Given the description of an element on the screen output the (x, y) to click on. 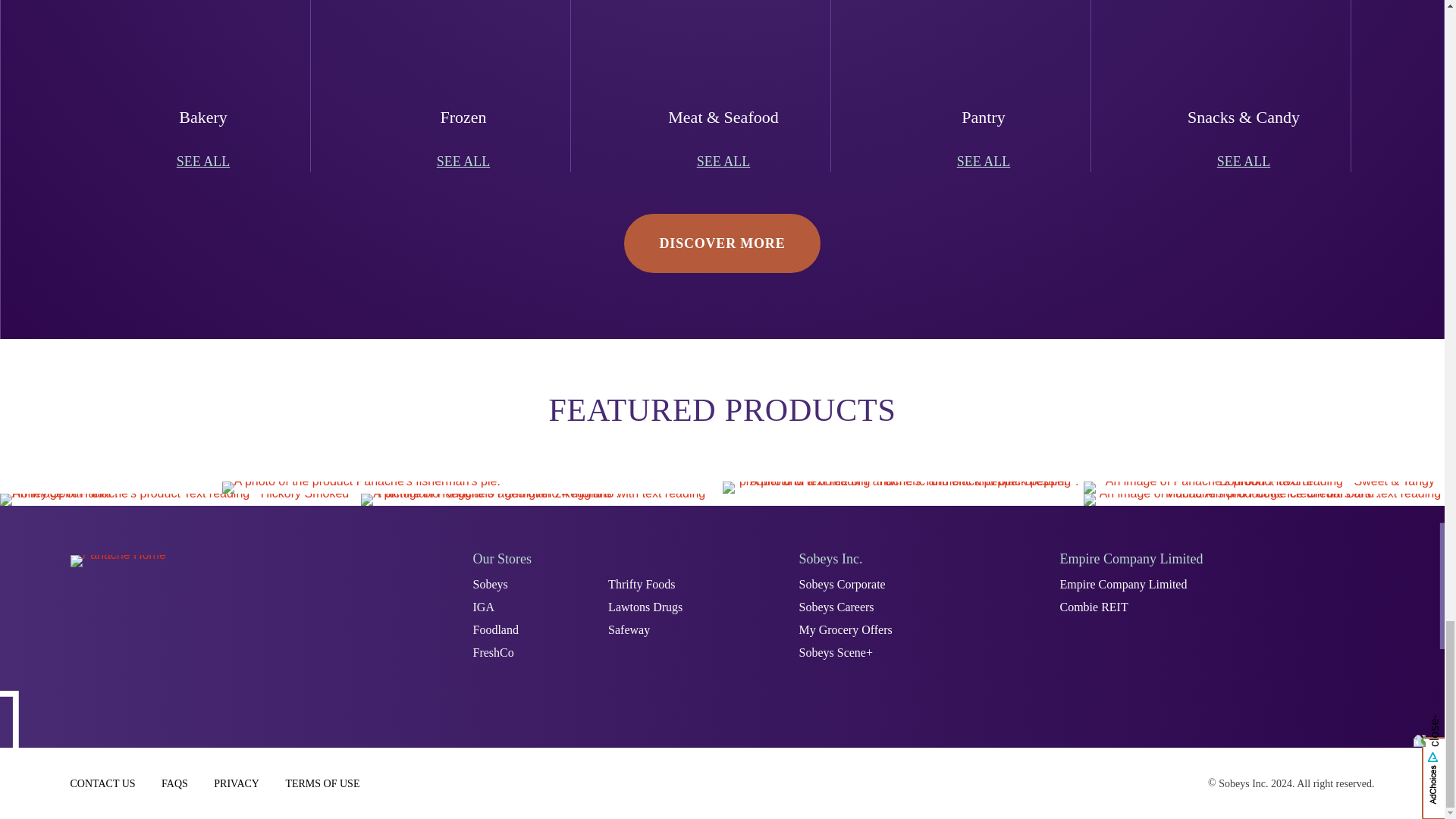
Hickory-Smoked (180, 499)
Parmigiano-Reggiano (541, 499)
fisherman-pie (361, 487)
